Given the description of an element on the screen output the (x, y) to click on. 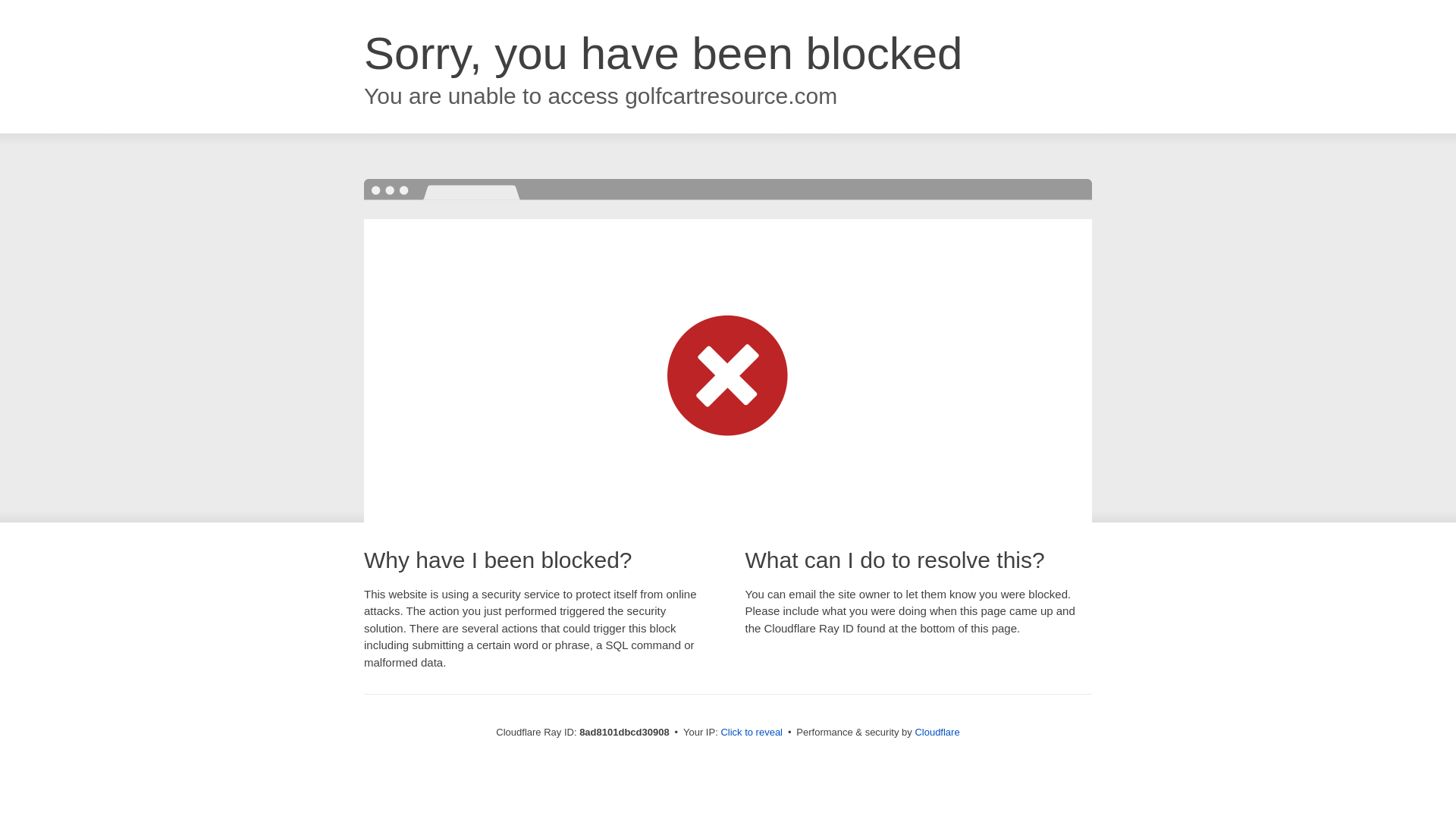
Cloudflare (936, 731)
Click to reveal (751, 732)
